Given the description of an element on the screen output the (x, y) to click on. 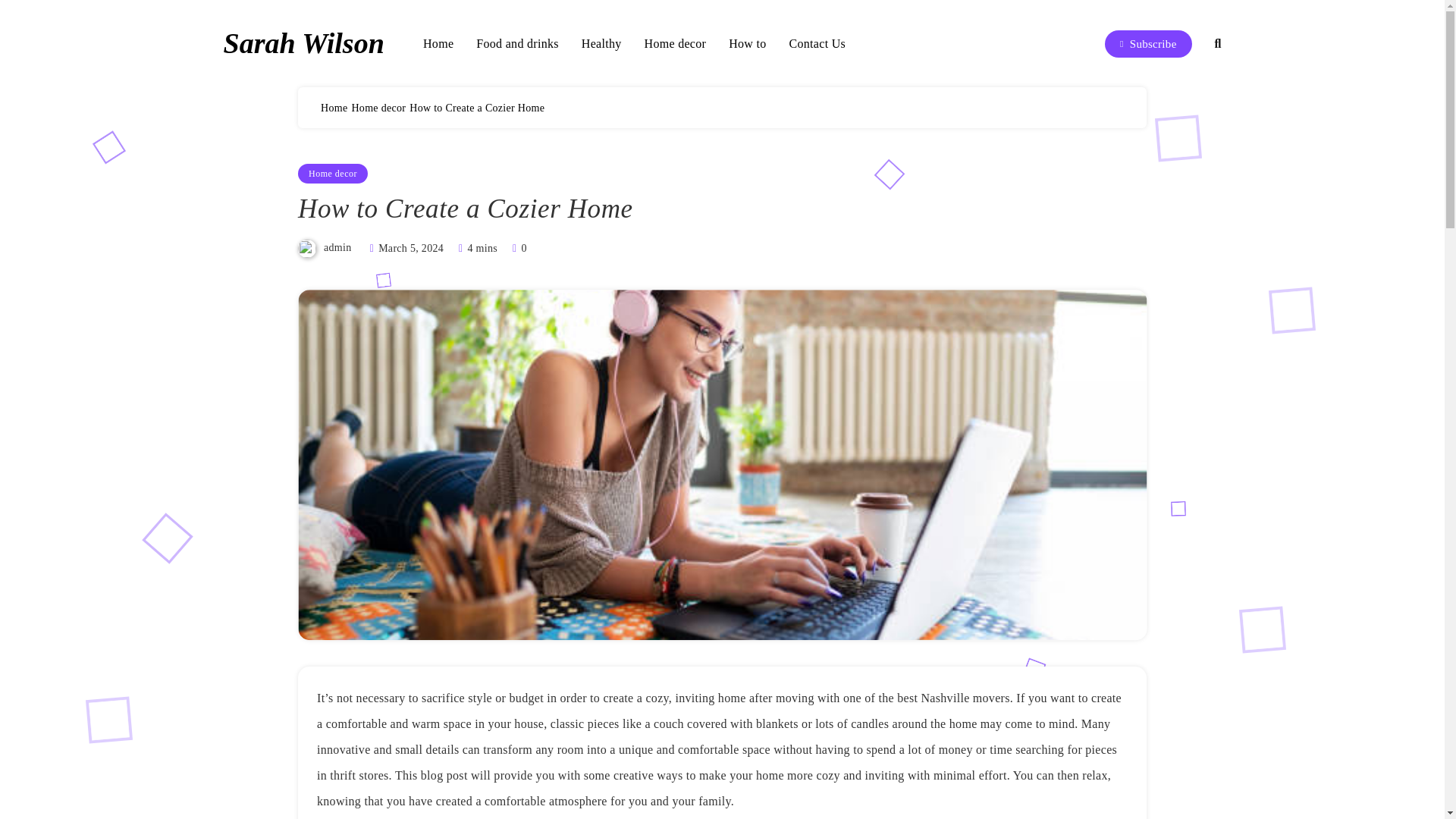
0 (517, 247)
March 5, 2024 (411, 247)
admin (337, 247)
Food and drinks (517, 44)
How to (747, 44)
Home decor (333, 173)
Home decor (675, 44)
Home (333, 107)
Home decor (378, 107)
Subscribe (1148, 43)
